Given the description of an element on the screen output the (x, y) to click on. 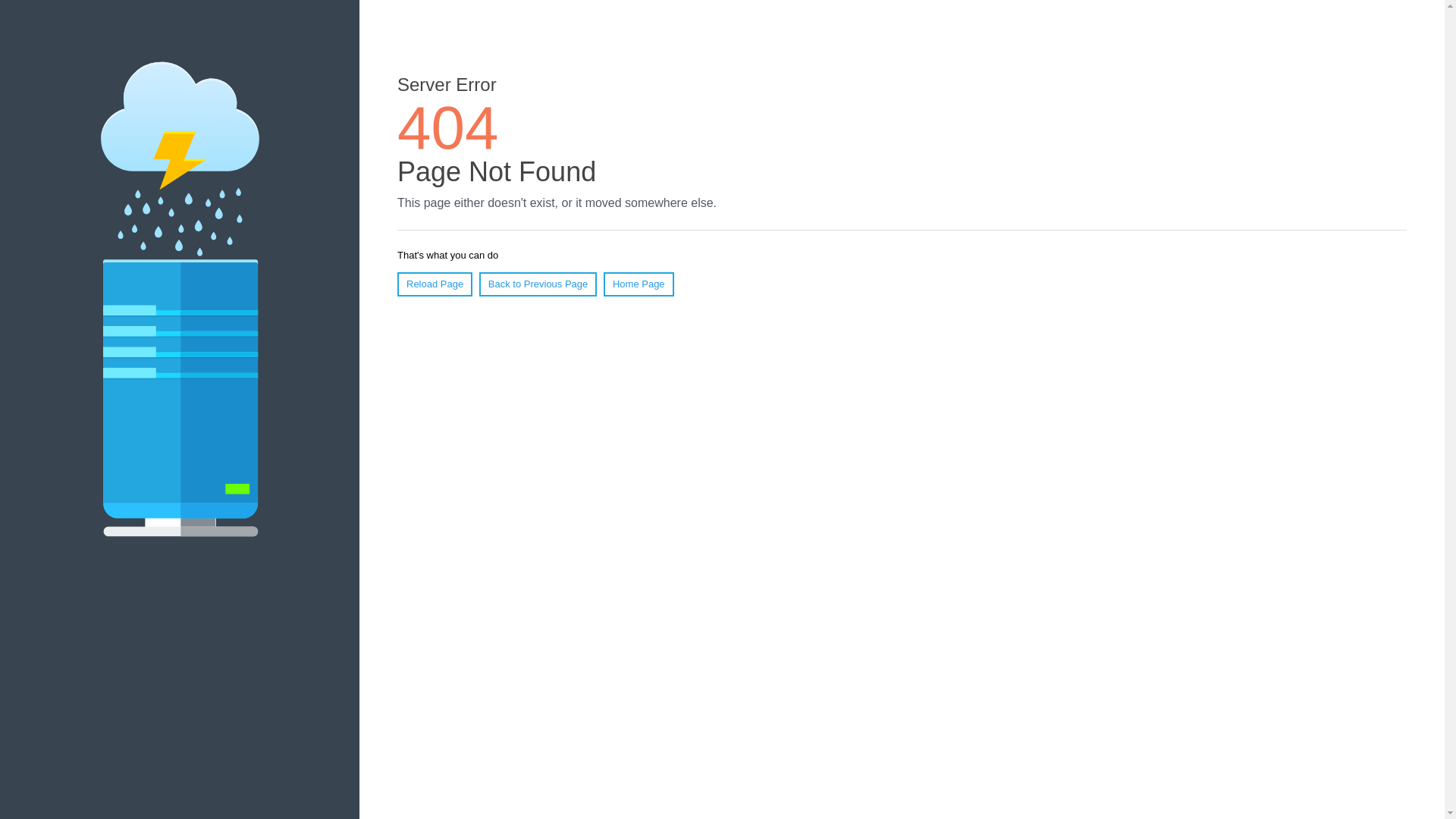
Back to Previous Page Element type: text (538, 284)
Home Page Element type: text (638, 284)
Reload Page Element type: text (434, 284)
